Given the description of an element on the screen output the (x, y) to click on. 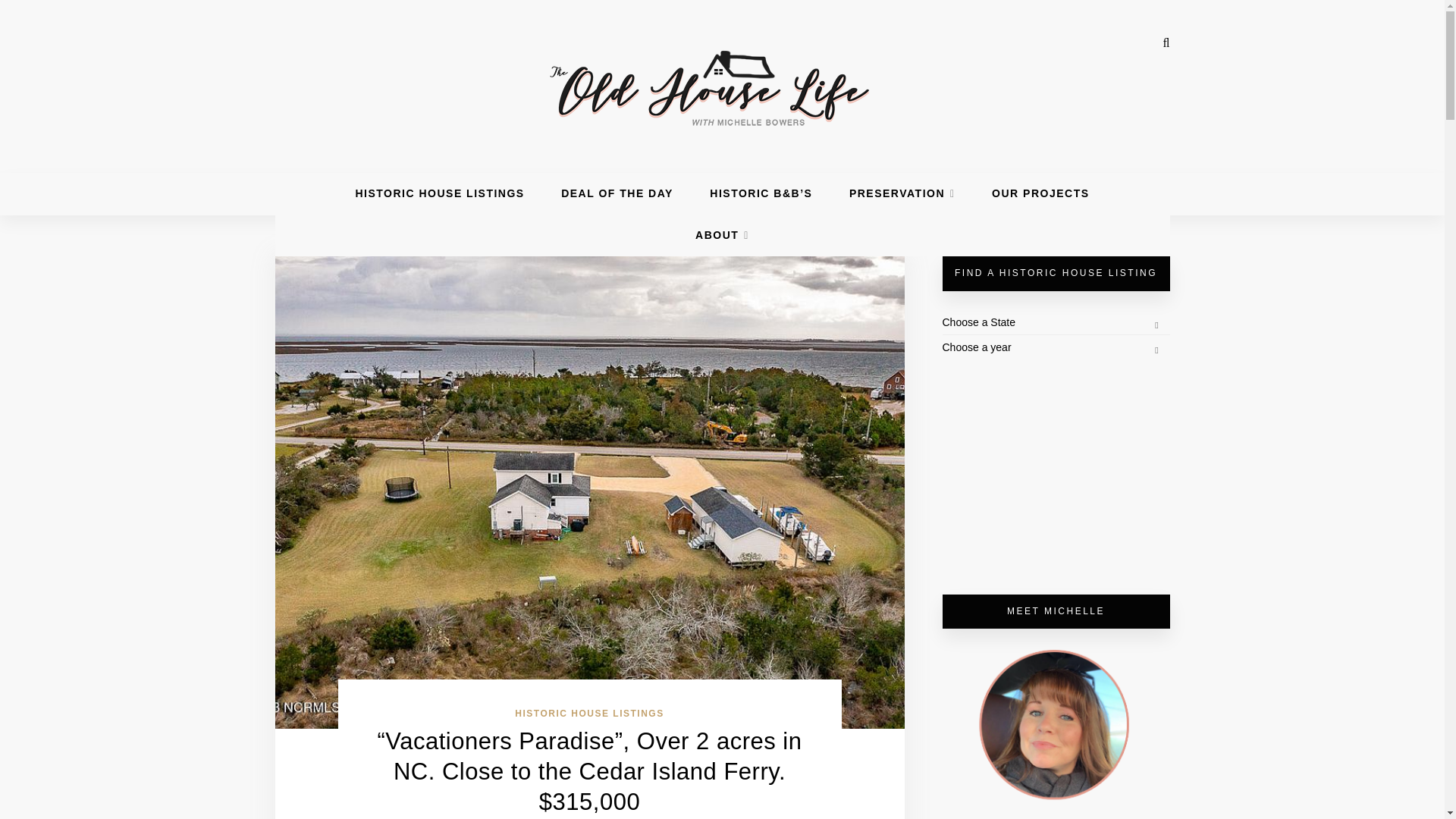
HISTORIC HOUSE LISTINGS (589, 713)
OUR PROJECTS (1040, 192)
HISTORIC HOUSE LISTINGS (439, 192)
ABOUT (722, 235)
PRESERVATION (901, 193)
DEAL OF THE DAY (616, 192)
